Given the description of an element on the screen output the (x, y) to click on. 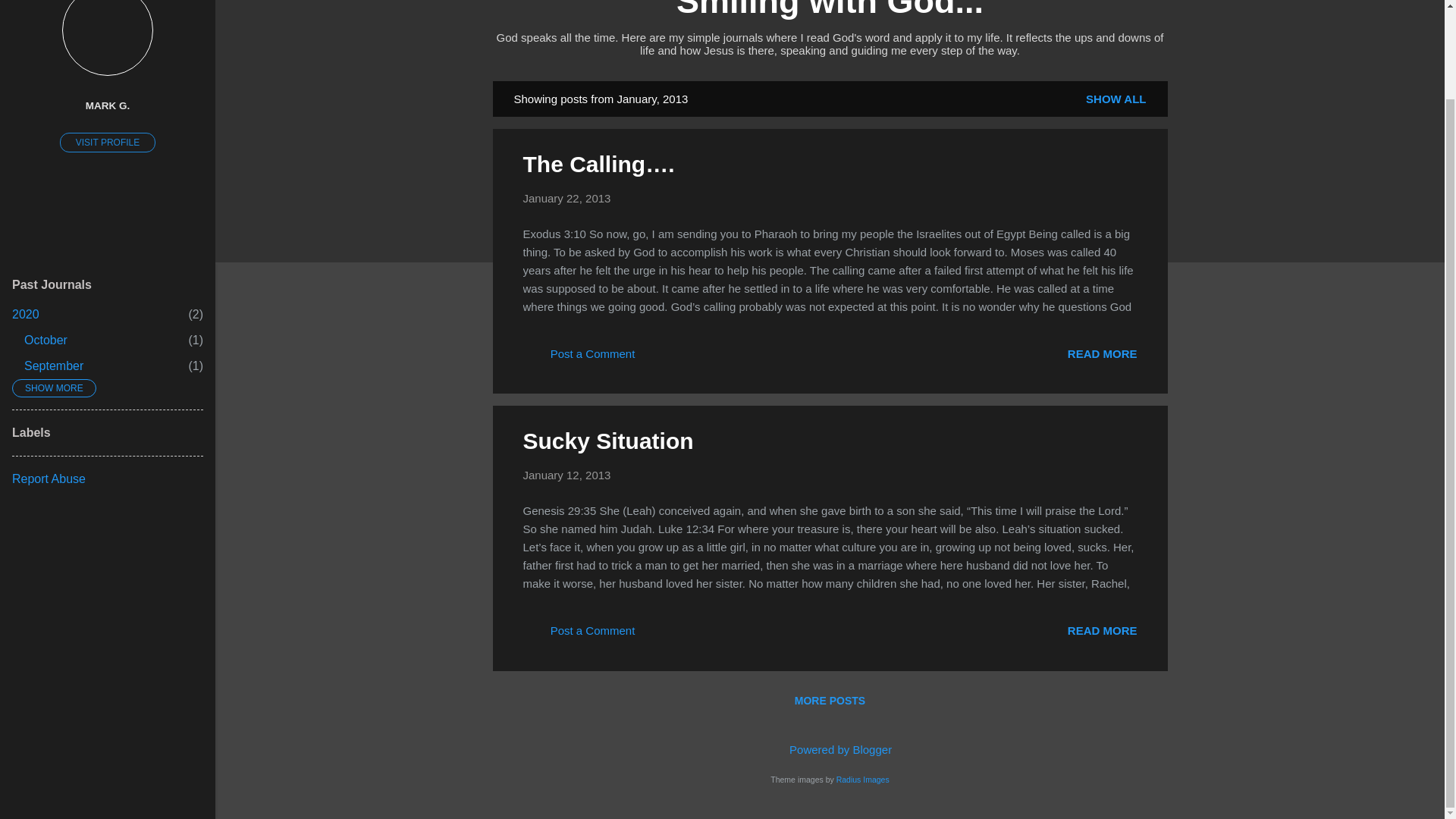
Post a Comment (578, 635)
MARK G. (107, 105)
Powered by Blogger (829, 748)
READ MORE (1102, 353)
permanent link (566, 197)
READ MORE (1102, 630)
January 22, 2013 (566, 197)
Post a Comment (578, 358)
SHOW ALL (1115, 98)
permanent link (566, 474)
Smiling with God... (53, 365)
Radius Images (45, 339)
